Given the description of an element on the screen output the (x, y) to click on. 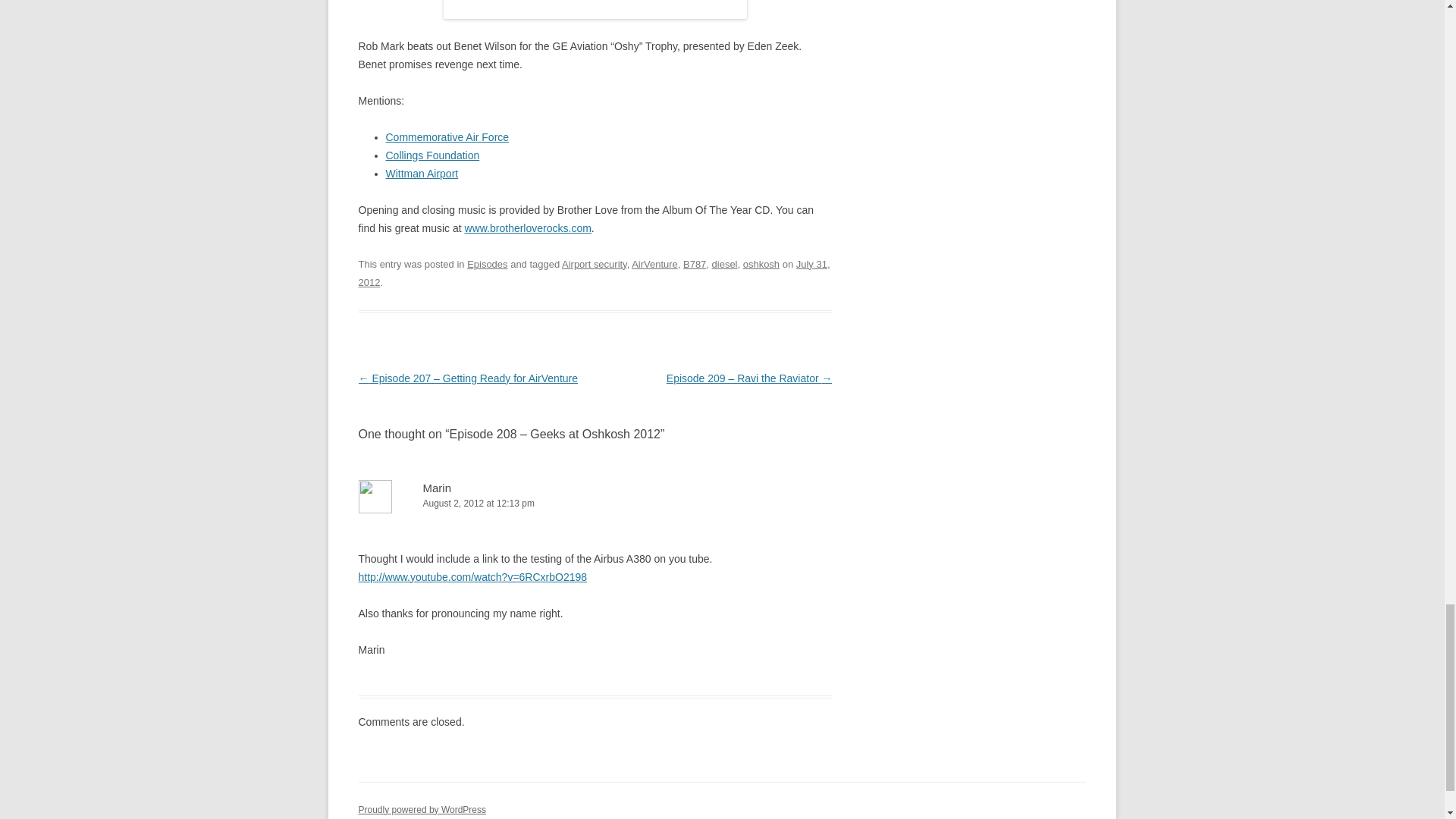
4:48 pm (593, 273)
Semantic Personal Publishing Platform (422, 809)
